Given the description of an element on the screen output the (x, y) to click on. 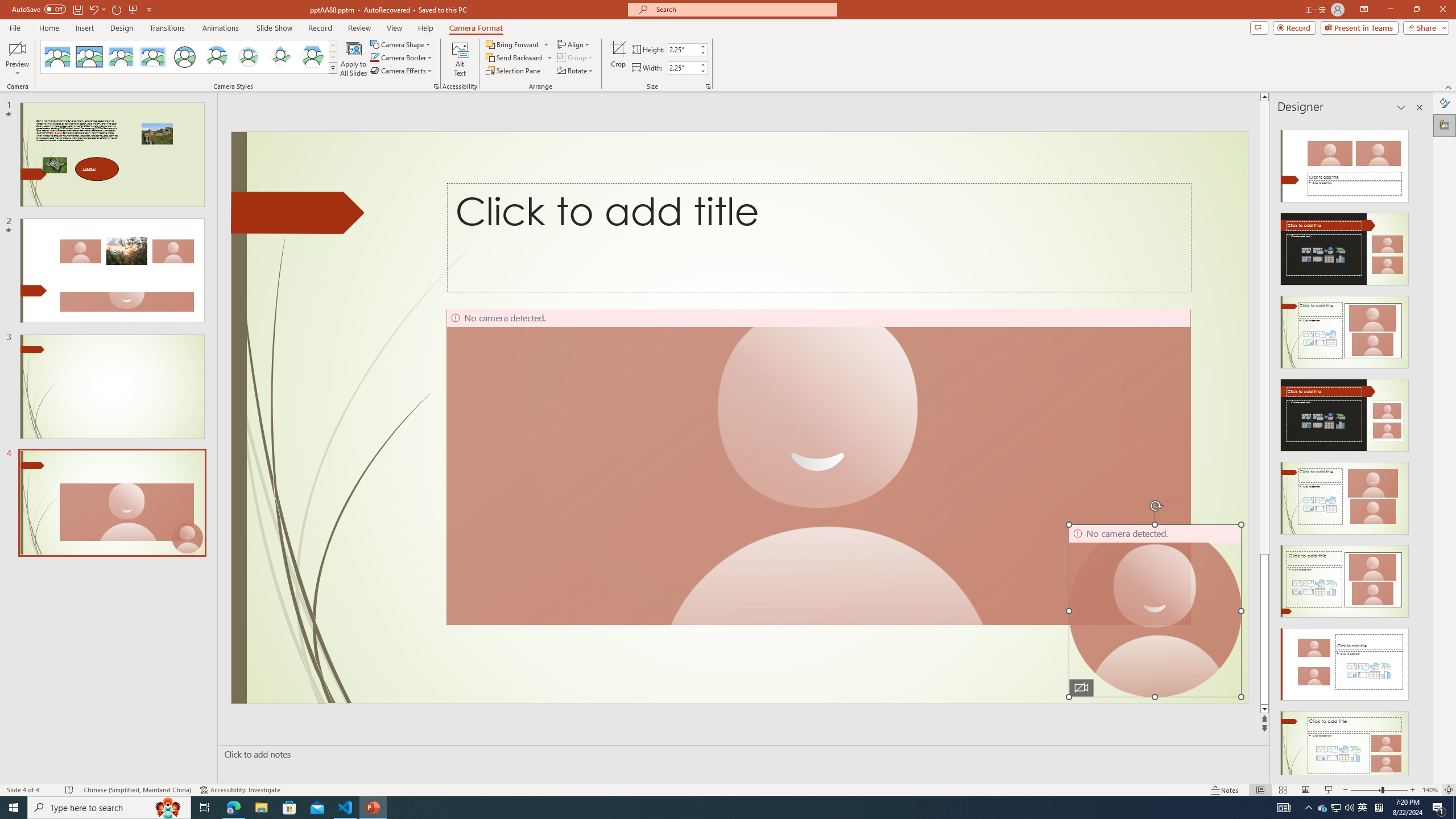
Camera Border (401, 56)
Camera Shape (400, 44)
Selection Pane... (513, 69)
AutomationID: CameoStylesGallery (189, 56)
Apply to All Slides (353, 58)
Rotate (575, 69)
